Given the description of an element on the screen output the (x, y) to click on. 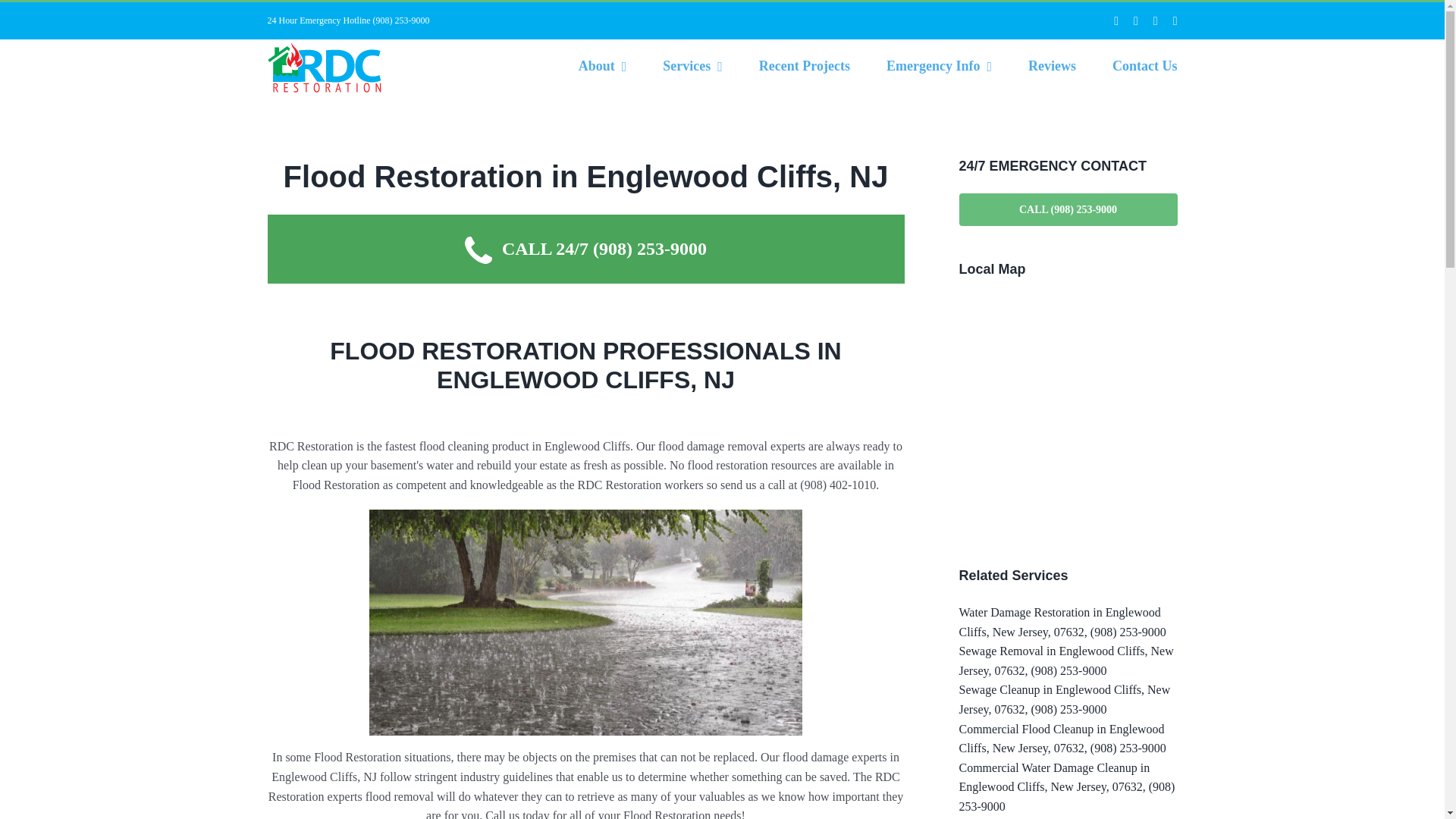
Emergency Info (938, 65)
Services (692, 65)
About (602, 65)
Contact Us (1144, 65)
Recent Projects (804, 65)
Reviews (1051, 65)
